Given the description of an element on the screen output the (x, y) to click on. 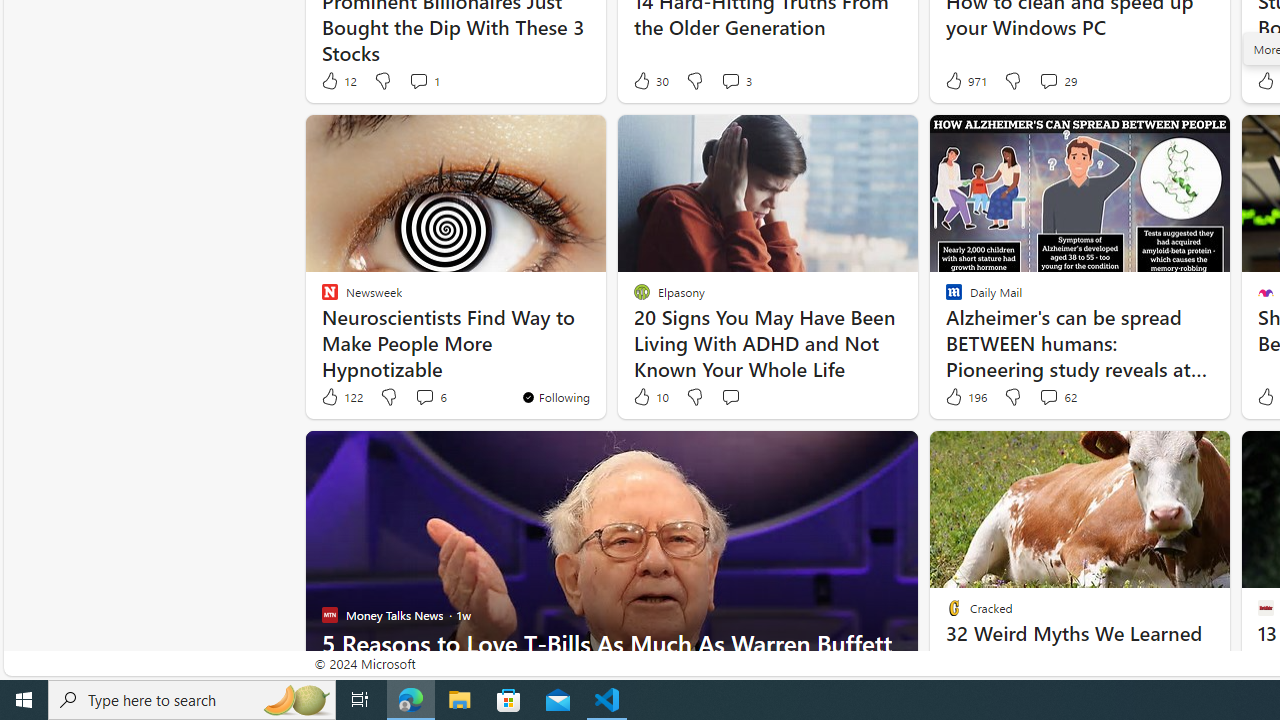
30 Like (650, 80)
You're following Newsweek (555, 396)
View comments 29 Comment (1057, 80)
View comments 3 Comment (735, 80)
10 Like (650, 397)
971 Like (964, 80)
View comments 6 Comment (429, 397)
Hide this story (1169, 454)
View comments 3 Comment (730, 80)
122 Like (341, 397)
View comments 62 Comment (1048, 396)
